Given the description of an element on the screen output the (x, y) to click on. 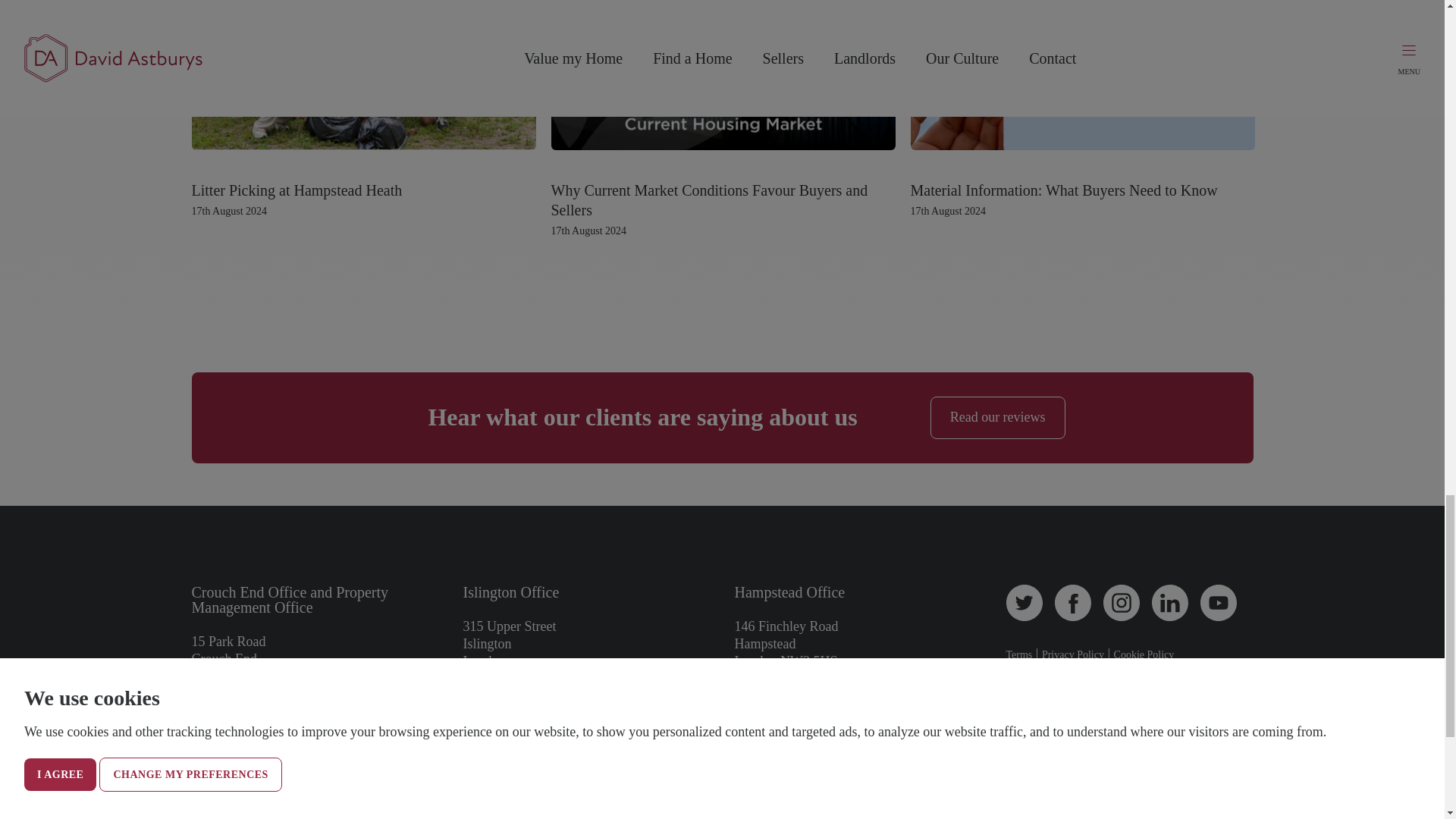
Litter Picking at Hampstead Heath (295, 190)
Islington Office (511, 592)
020 3151 0777 (499, 712)
020 3000 6787 (226, 727)
Read our reviews (997, 417)
Material Information: What Buyers Need to Know (1063, 190)
Email Office (221, 740)
Crouch End Office and Property Management Office (289, 599)
Why Current Market Conditions Favour Buyers and Sellers (708, 199)
